Given the description of an element on the screen output the (x, y) to click on. 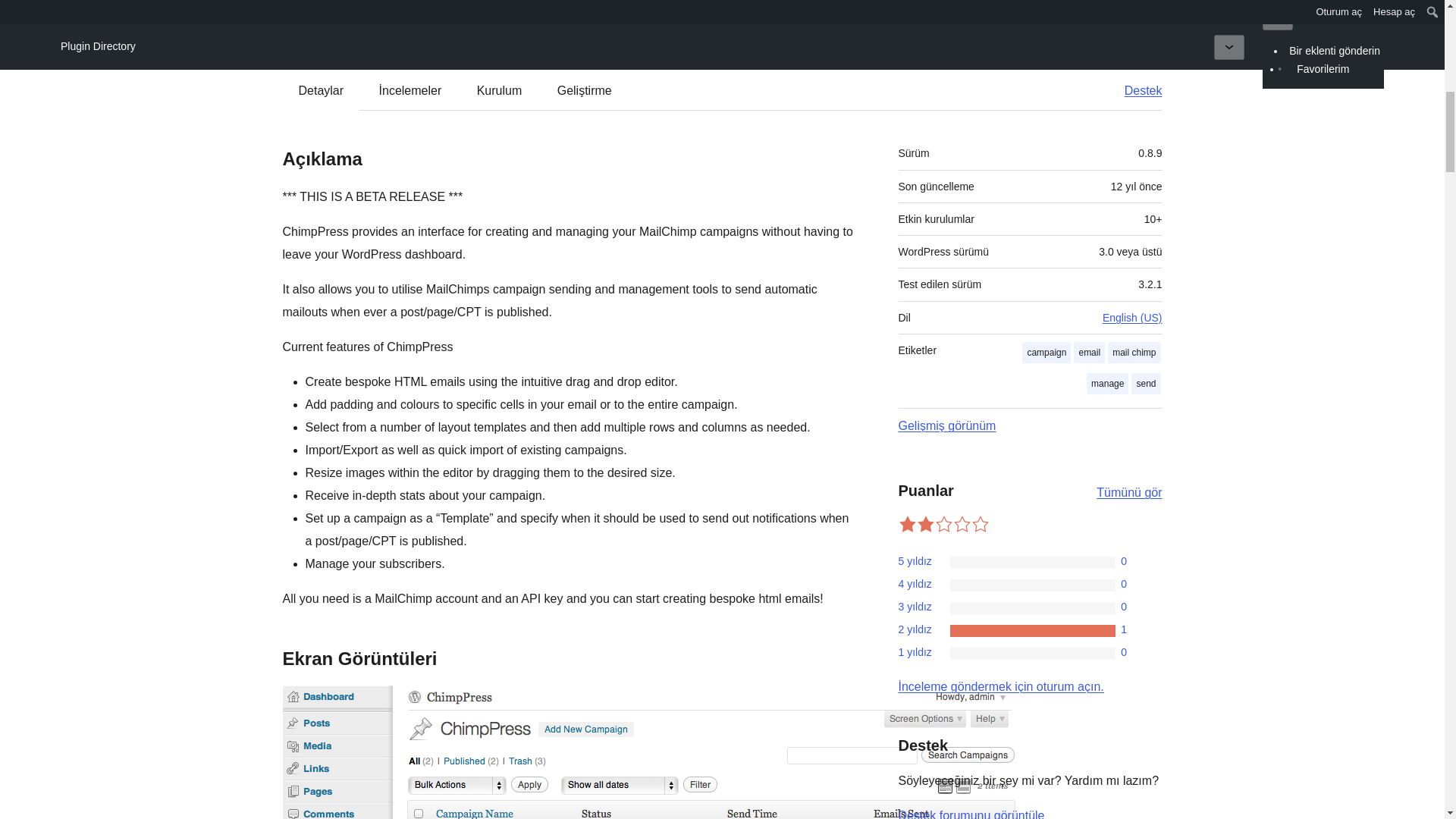
Destek (1135, 90)
Kurulum (499, 90)
Detaylar (321, 90)
